Given the description of an element on the screen output the (x, y) to click on. 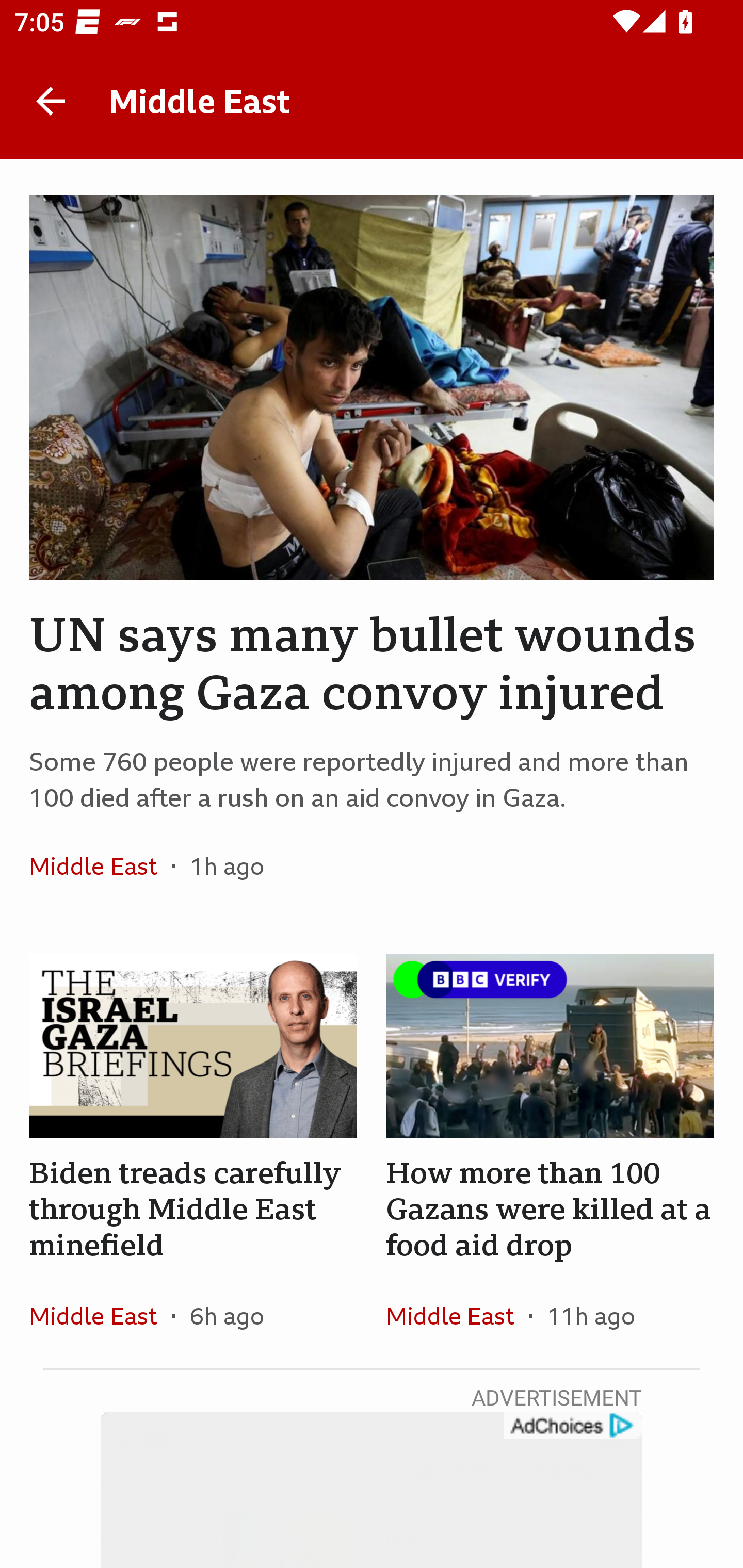
Back (50, 101)
Middle East In the section Middle East (99, 865)
Middle East In the section Middle East (99, 1315)
Middle East In the section Middle East (457, 1315)
Video Player get?name=admarker-full-tl   (371, 1489)
get?name=admarker-full-tl (571, 1425)
